Given the description of an element on the screen output the (x, y) to click on. 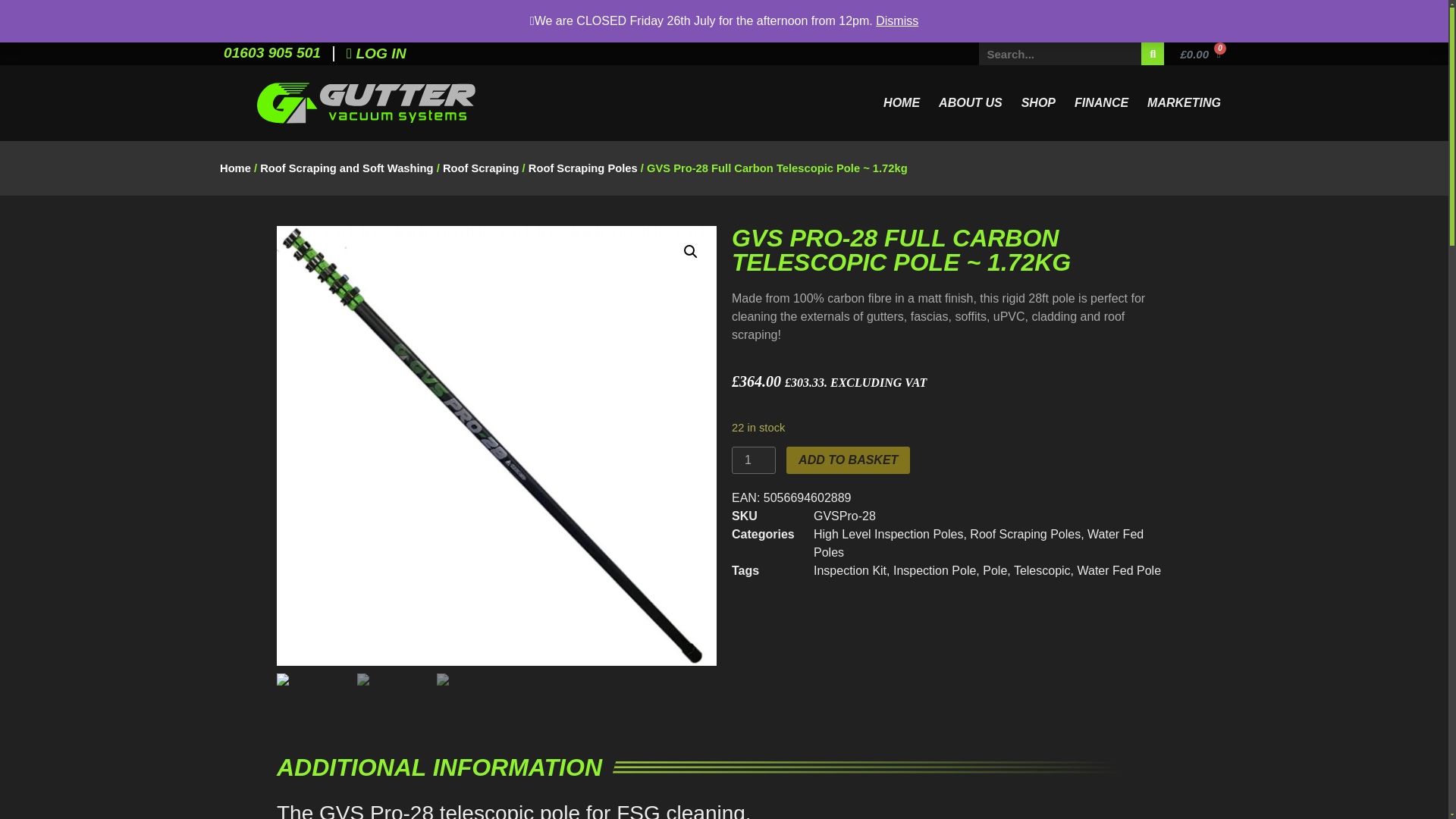
High Level Inspection Poles (887, 533)
Roof Scraping Poles (1024, 533)
Home (234, 168)
1 (754, 460)
FINANCE (1101, 102)
MARKETING (1184, 102)
Roof Scraping Poles (582, 168)
LOG IN (376, 53)
SHOP (1037, 102)
ADD TO BASKET (848, 460)
HOME (901, 102)
Roof Scraping and Soft Washing (346, 168)
01603 905 501 (272, 52)
Roof Scraping (480, 168)
